Given the description of an element on the screen output the (x, y) to click on. 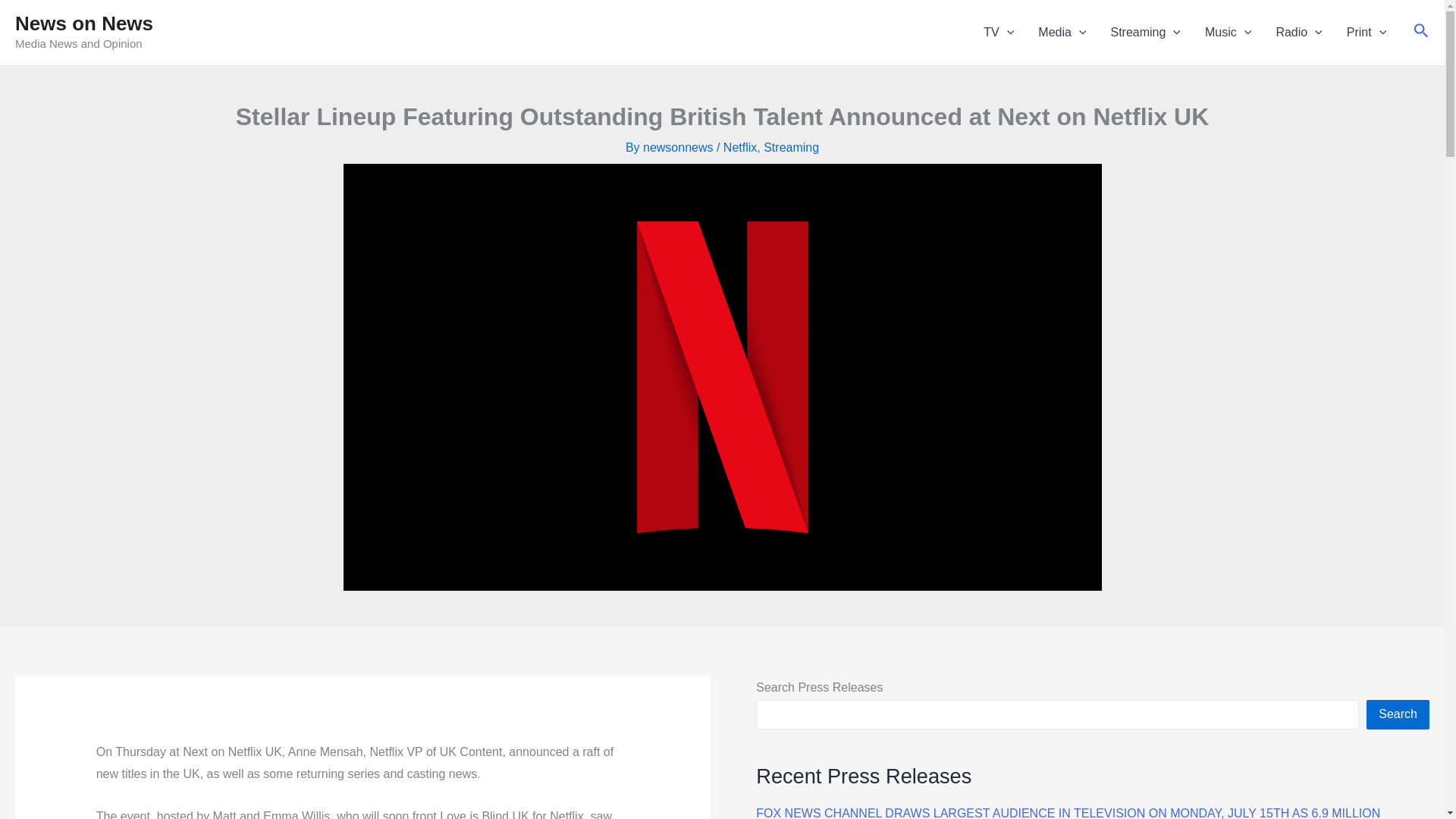
Streaming (1144, 32)
Music (1227, 32)
TV (998, 32)
News on News (83, 23)
Media (1061, 32)
View all posts by newsonnews (679, 146)
